Given the description of an element on the screen output the (x, y) to click on. 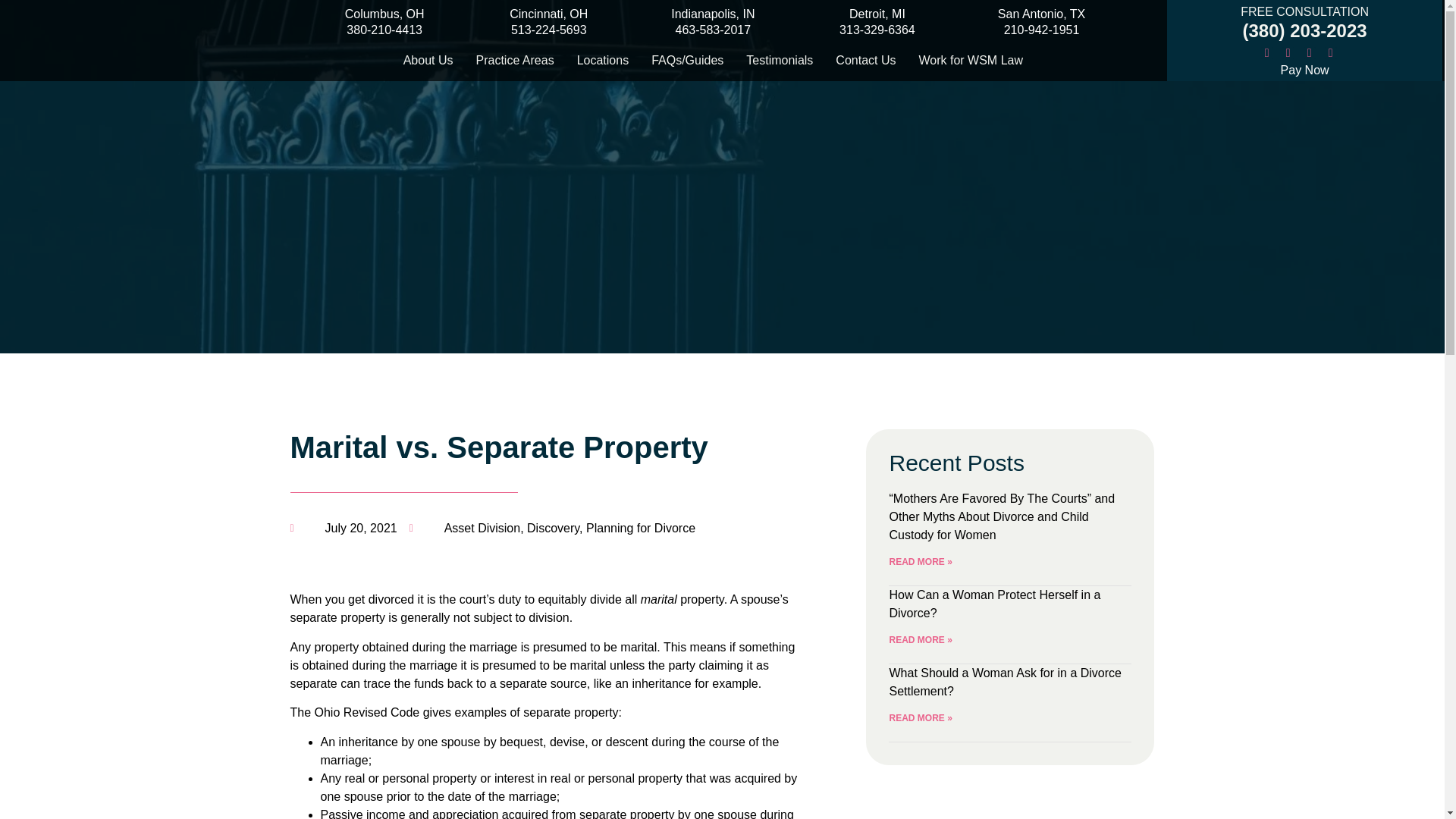
Cincinnati, OH (1040, 21)
513-224-5693 (548, 13)
Practice Areas (548, 29)
380-210-4413 (514, 60)
About Us (384, 29)
463-583-2017 (427, 60)
Indianapolis, IN (713, 29)
Locations (712, 13)
Detroit, MI (603, 60)
Columbus, OH (876, 13)
313-329-6364 (385, 13)
